Given the description of an element on the screen output the (x, y) to click on. 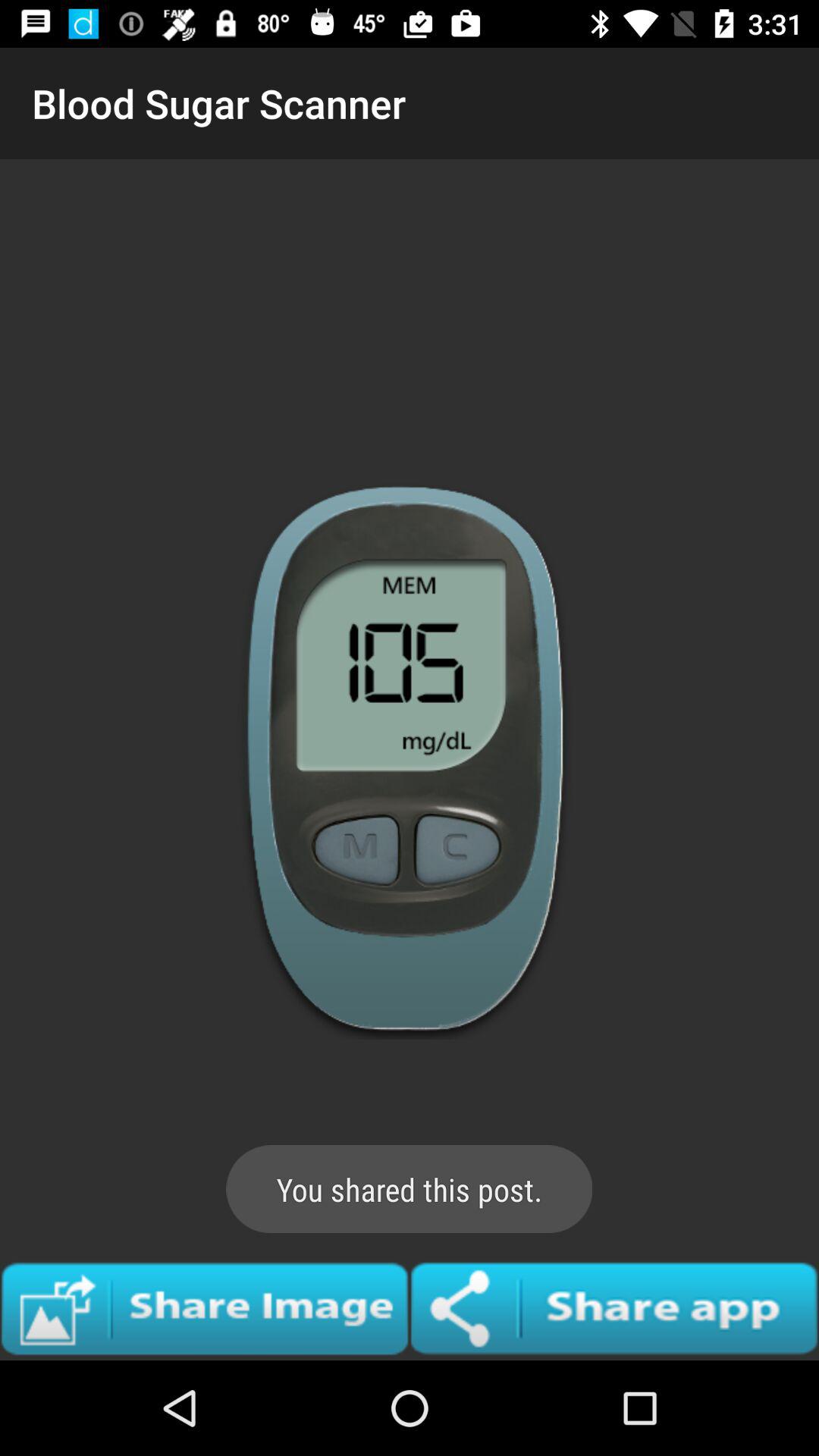
open share options (614, 1308)
